Given the description of an element on the screen output the (x, y) to click on. 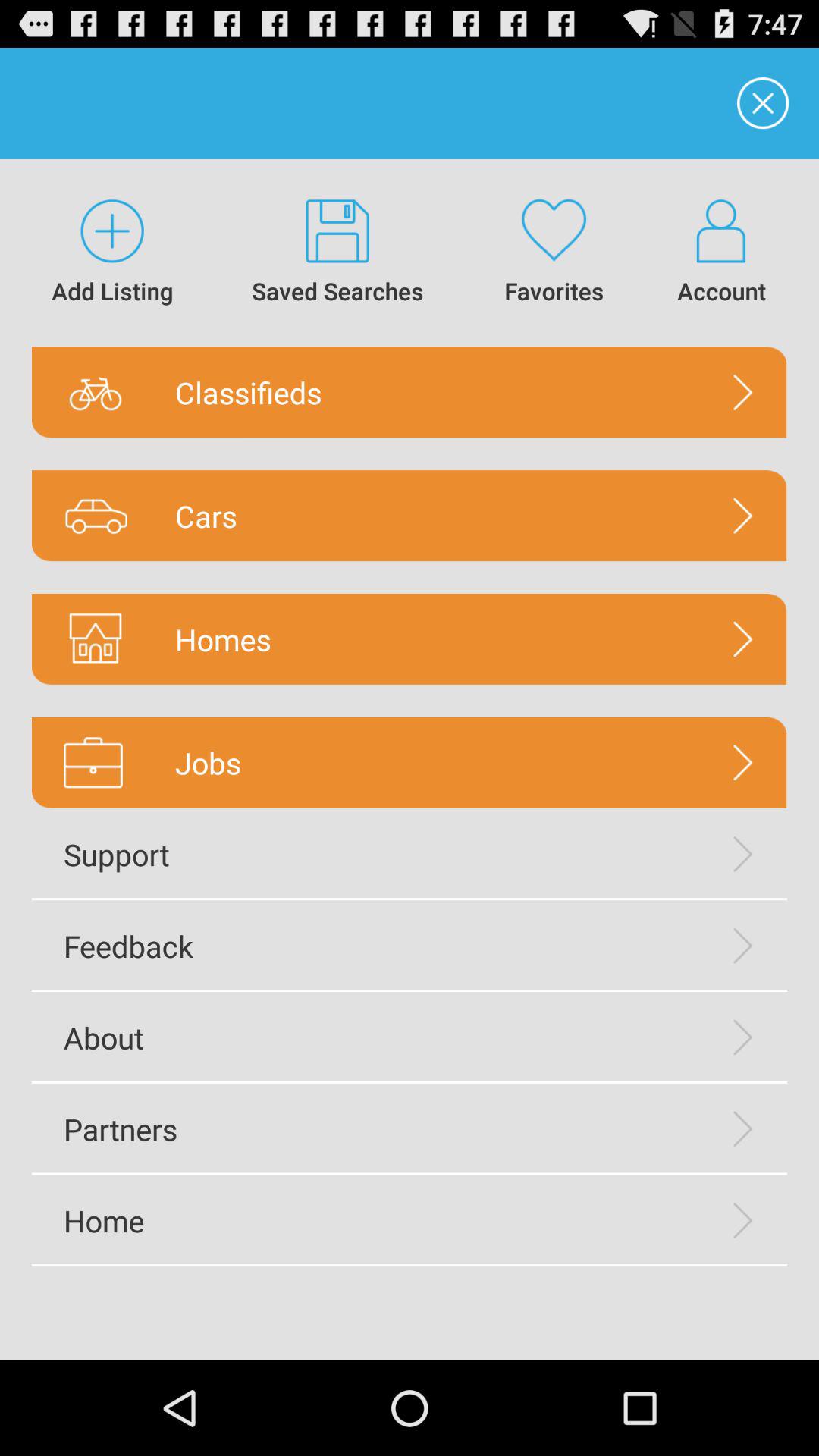
turn off saved searches icon (337, 253)
